Given the description of an element on the screen output the (x, y) to click on. 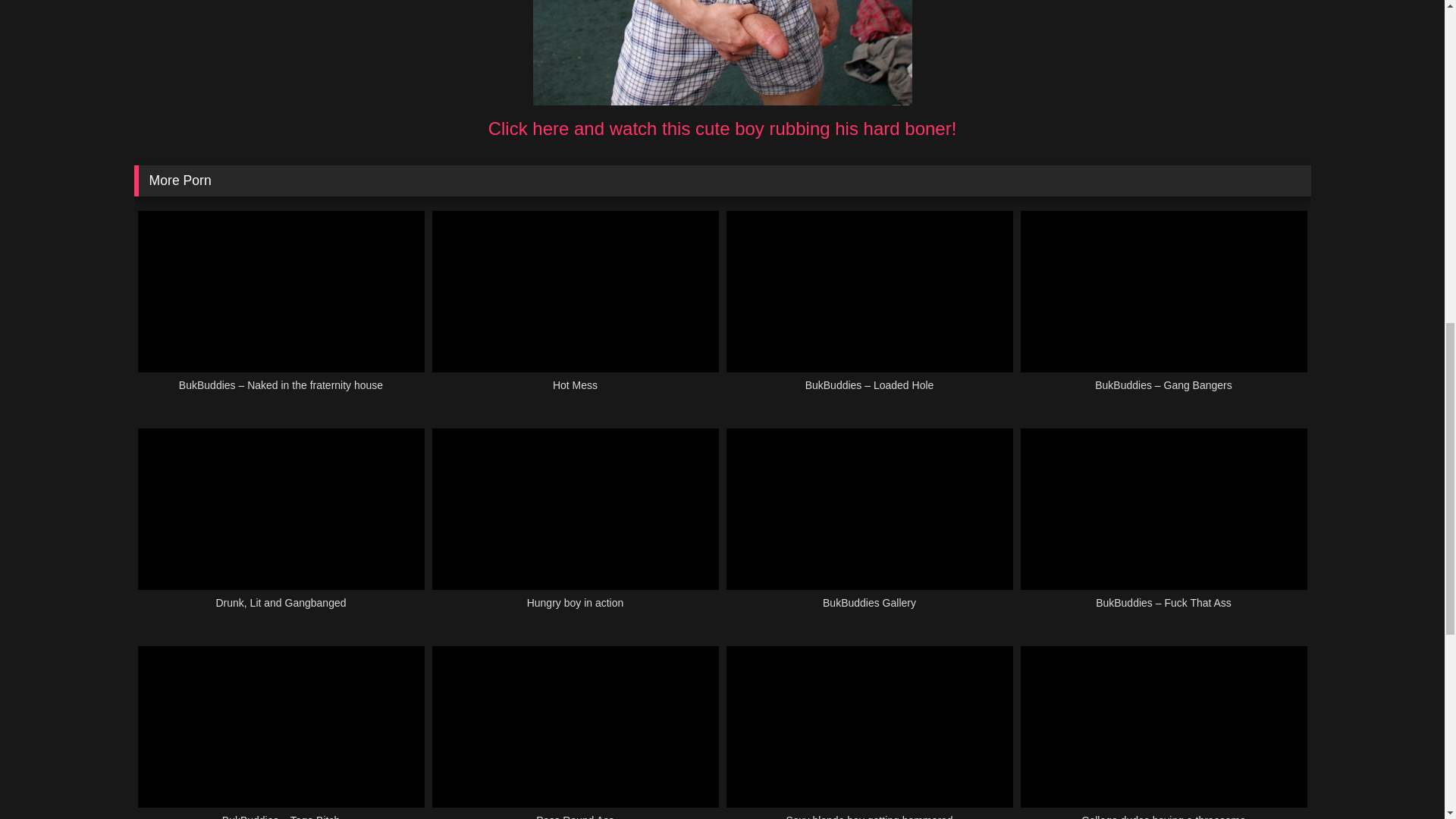
Sexy blonde boy getting hammered (869, 732)
Hungry boy in action (575, 527)
BukBuddies Gallery (869, 527)
Pass Round Ass (575, 732)
Drunk, Lit and Gangbanged (281, 527)
College dudes having a threesome (1163, 732)
Drunk, Lit and Gangbanged (281, 527)
cute boy jerking off (721, 52)
Hungry boy in action (575, 527)
College dudes having a threesome (1163, 732)
Pass Round Ass (575, 732)
BukBuddies Gallery (869, 527)
Hot Mess (575, 309)
Click here and watch this cute boy rubbing his hard boner! (721, 127)
Hot Mess (575, 309)
